Given the description of an element on the screen output the (x, y) to click on. 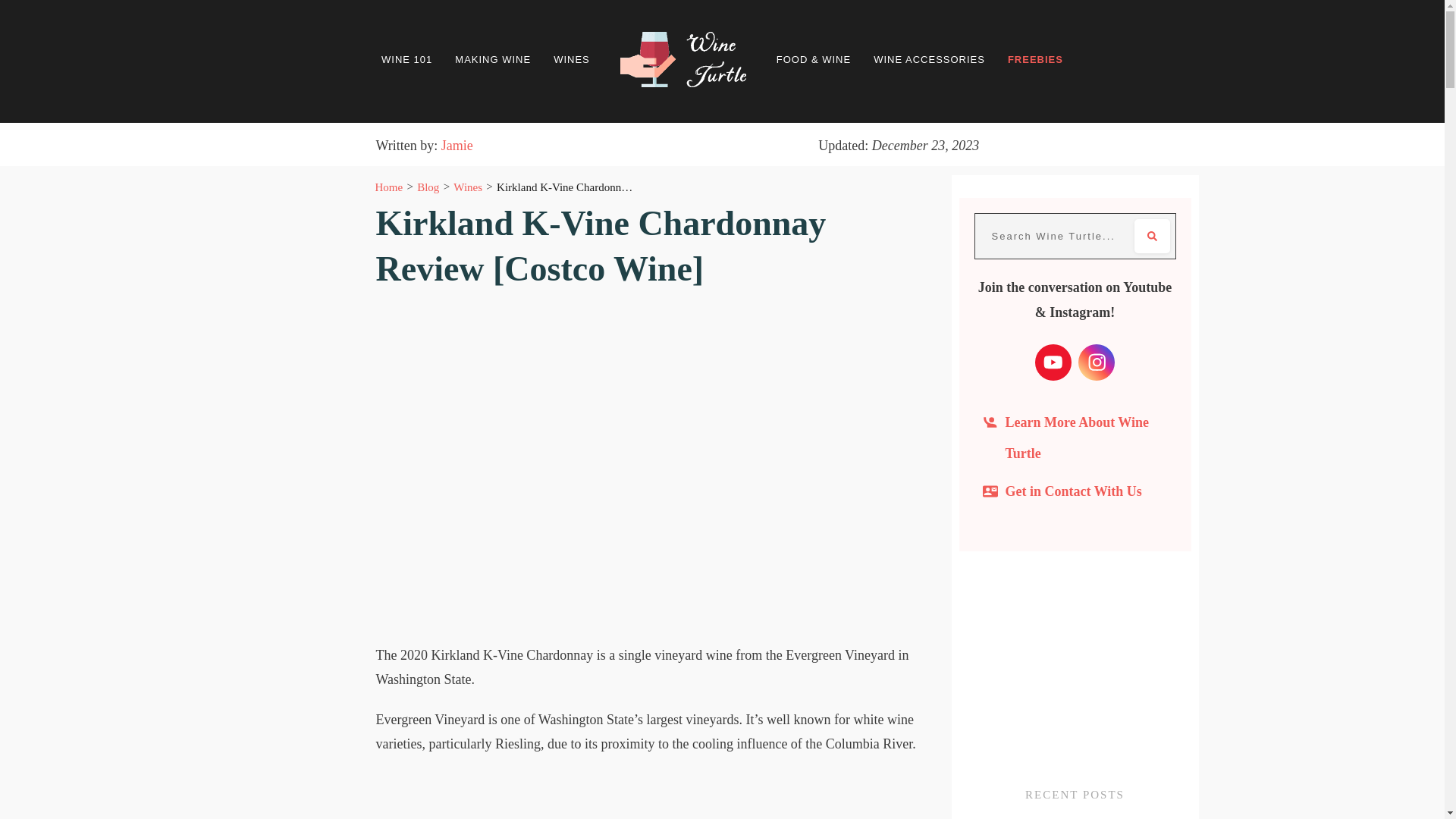
WINES (571, 59)
Home (388, 186)
WINE 101 (406, 59)
FREEBIES (1034, 59)
MAKING WINE (492, 59)
Wines (466, 186)
Jamie (457, 145)
Jamie (457, 145)
WINE ACCESSORIES (929, 59)
